Given the description of an element on the screen output the (x, y) to click on. 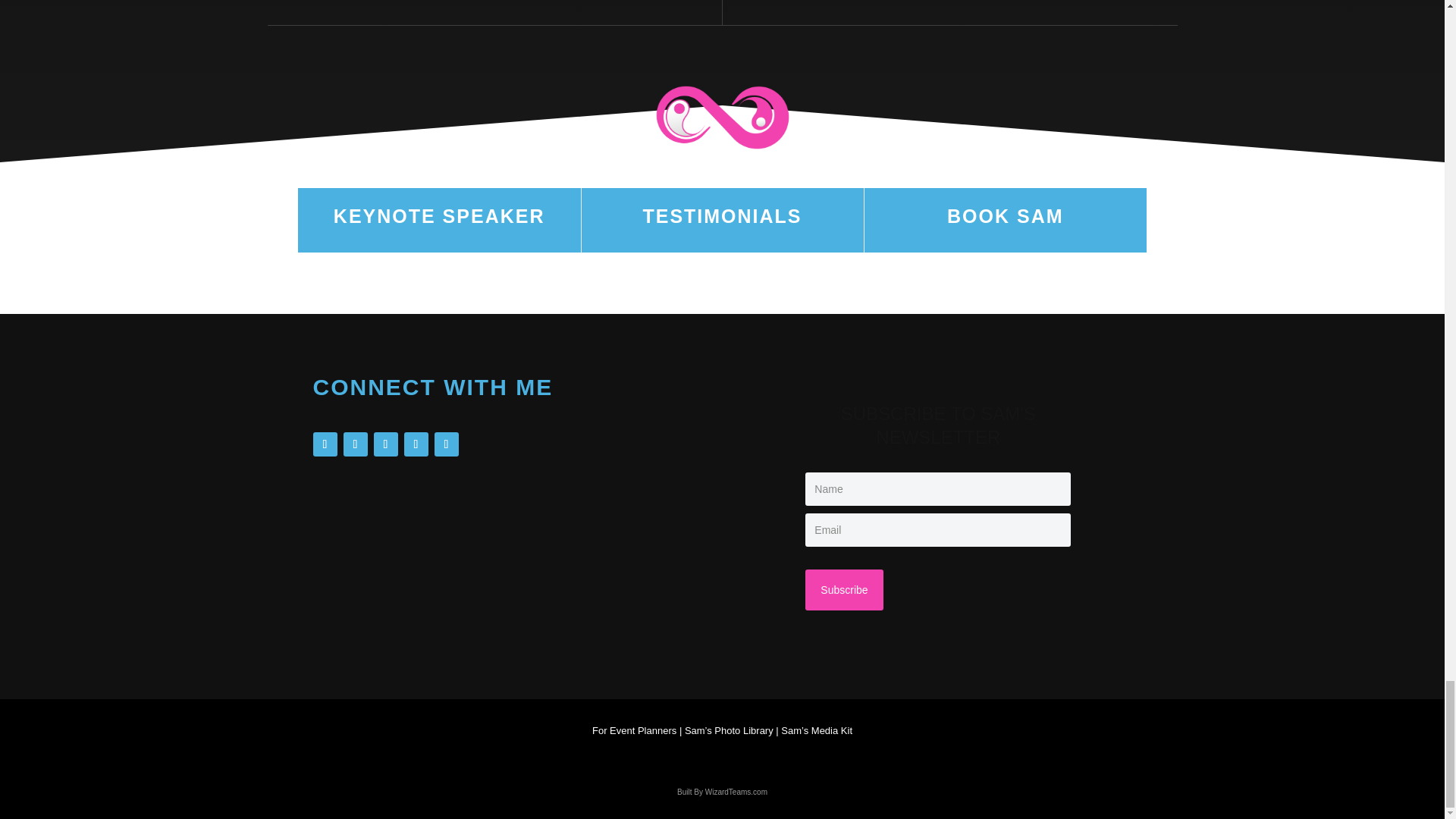
Follow on Instagram (324, 444)
Follow on LinkedIn (354, 444)
Infinity Yang2 (722, 117)
Follow on Facebook (384, 444)
